Given the description of an element on the screen output the (x, y) to click on. 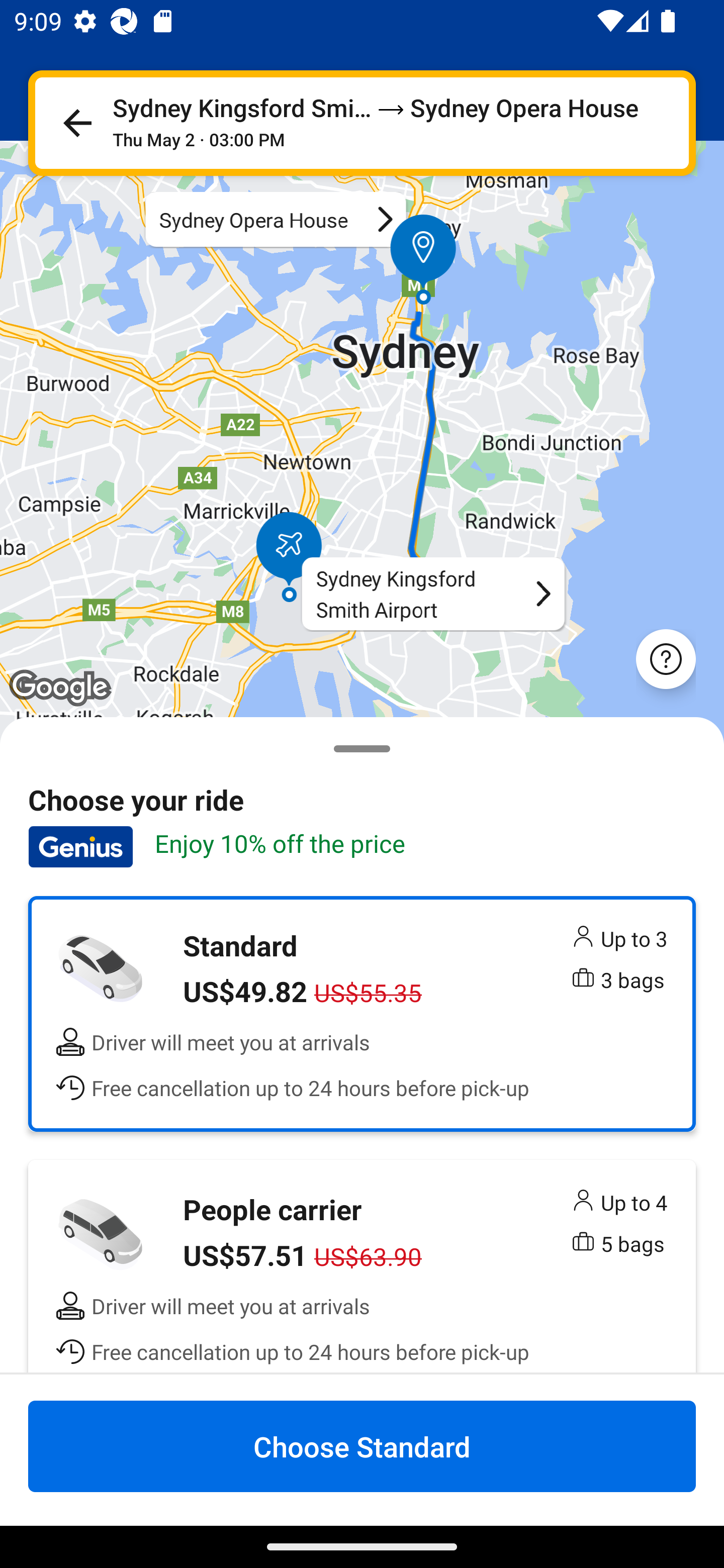
Back (77, 122)
Help center (665, 658)
Choose Standard (361, 1446)
